Given the description of an element on the screen output the (x, y) to click on. 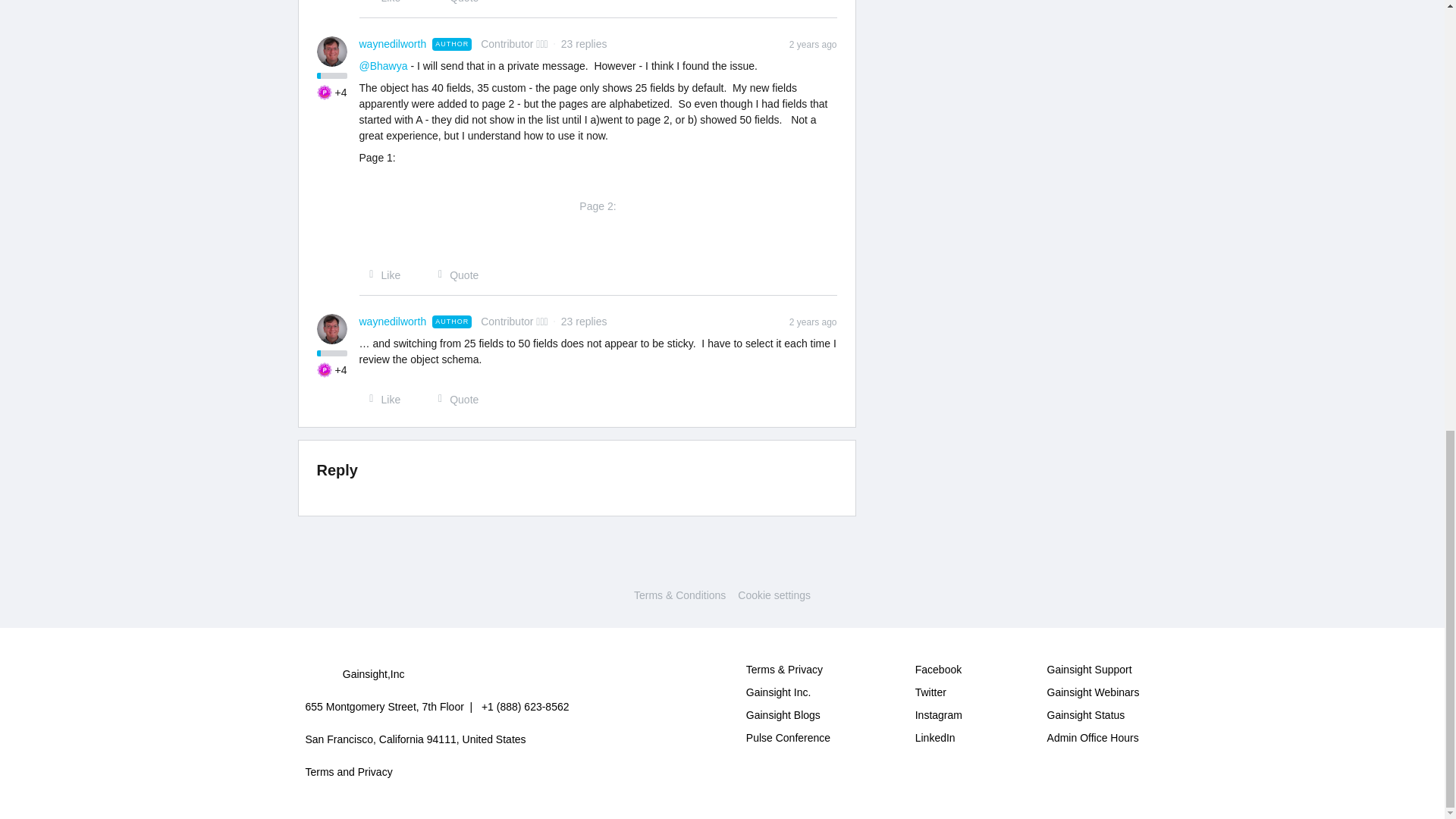
Quote (453, 2)
waynedilworth (392, 44)
Terms and Privacy (347, 771)
waynedilworth (392, 321)
Like (380, 2)
Pulse 2024 Attendee (324, 92)
waynedilworth (392, 44)
Like (380, 274)
Pulse 2024 Attendee (324, 369)
Visit Gainsight.com (722, 563)
